Given the description of an element on the screen output the (x, y) to click on. 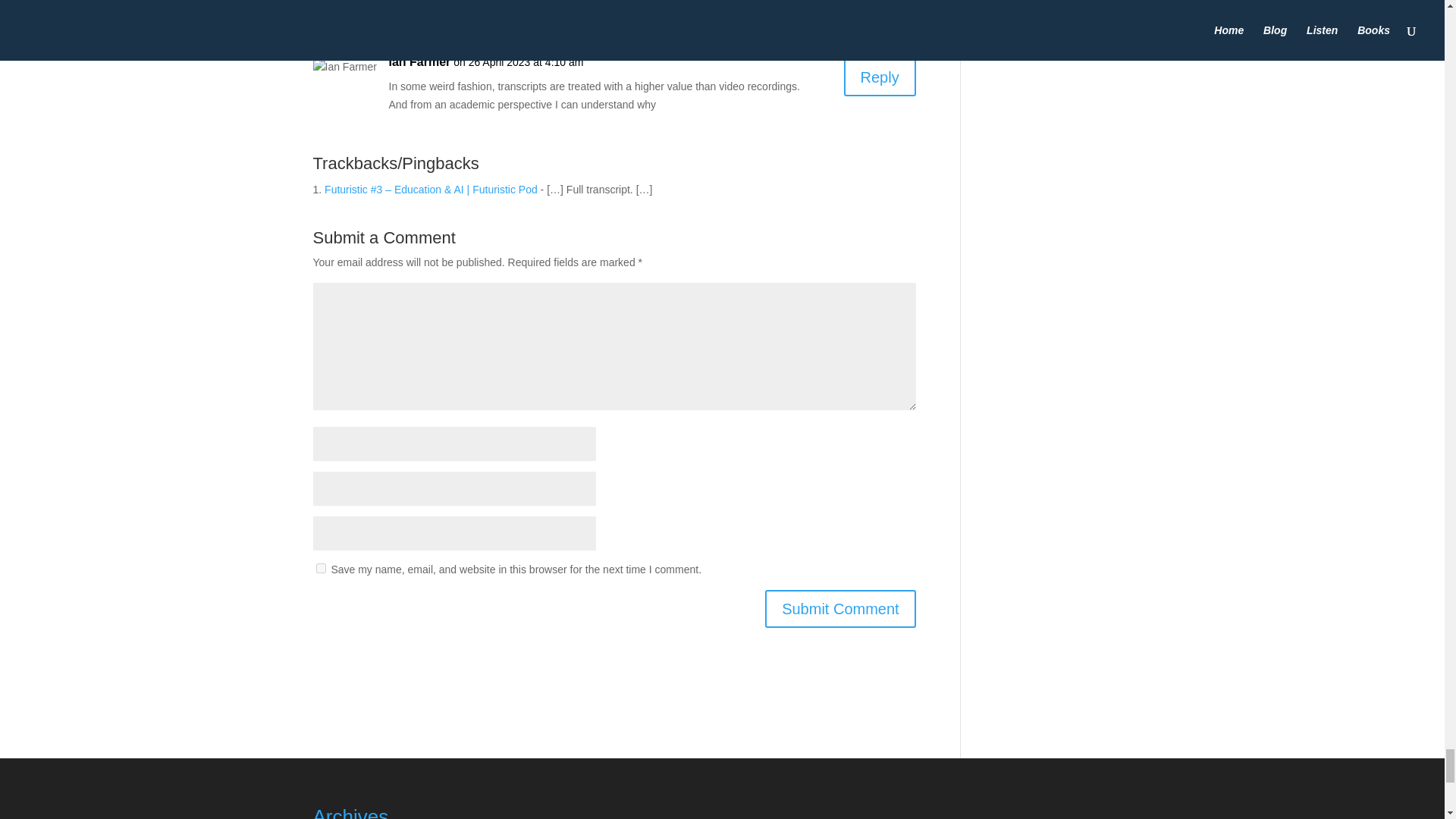
Ian Farmer (418, 62)
Reply (879, 77)
Submit Comment (840, 608)
yes (319, 568)
Submit Comment (840, 608)
